Given the description of an element on the screen output the (x, y) to click on. 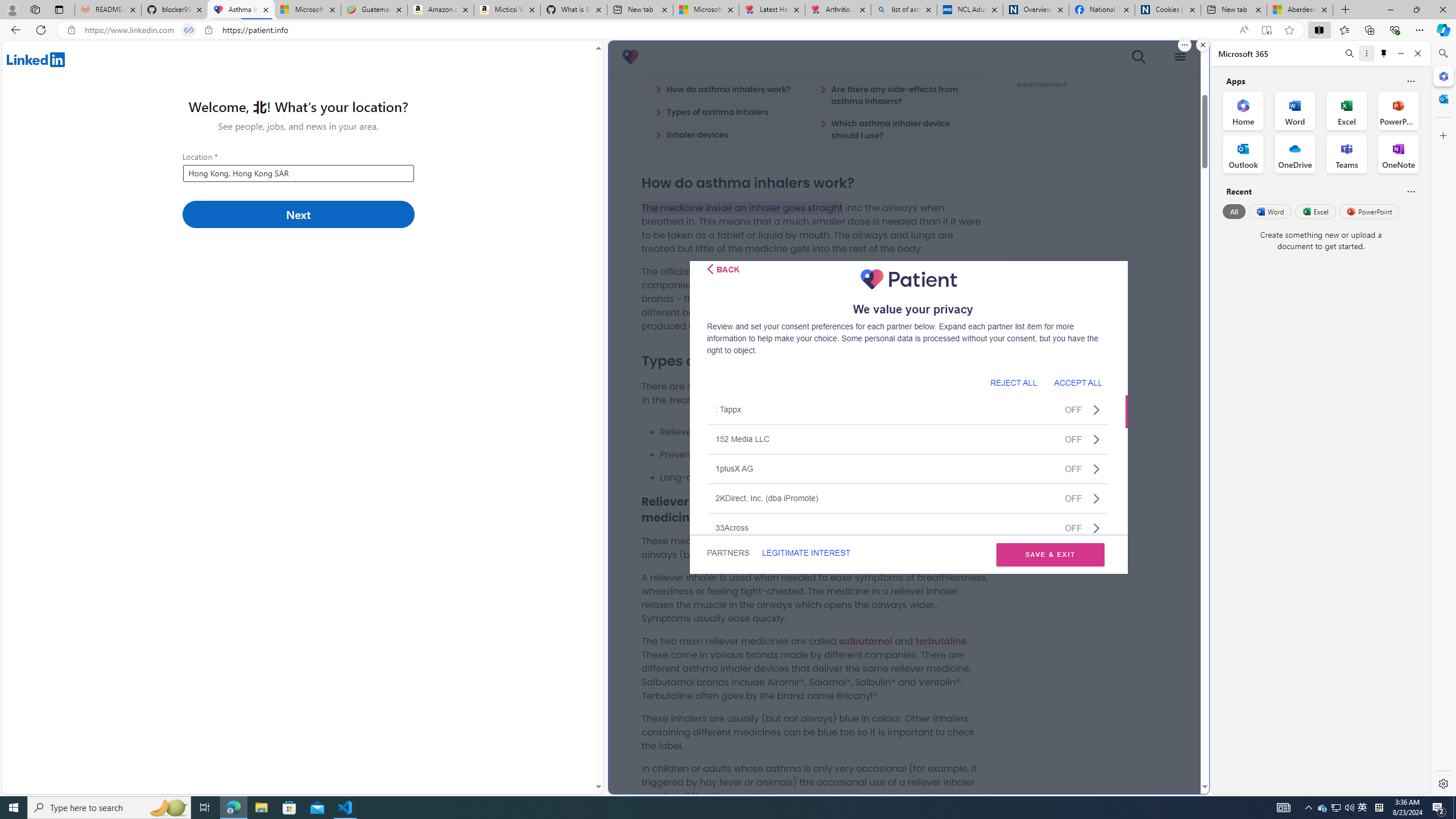
: TappxOFF (907, 409)
Unpin side pane (1383, 53)
